Given the description of an element on the screen output the (x, y) to click on. 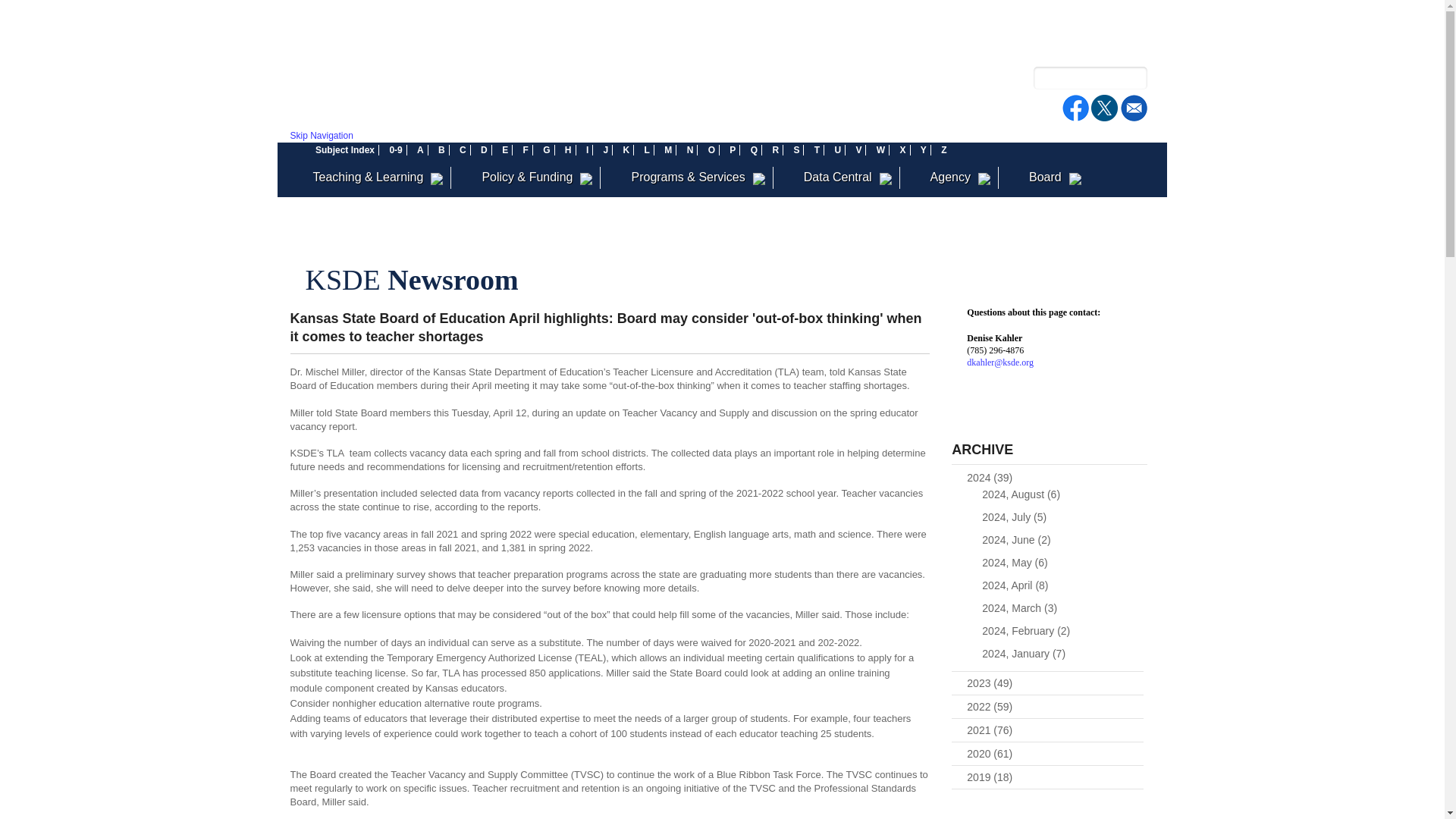
2024, April (1014, 585)
2024, January (1023, 653)
2024, March (1019, 607)
2024, June (1015, 539)
2024, July (1013, 517)
0-9 (394, 149)
2024 (988, 477)
2024, May (1013, 562)
Subject Index (344, 149)
2024, February (1025, 630)
